Given the description of an element on the screen output the (x, y) to click on. 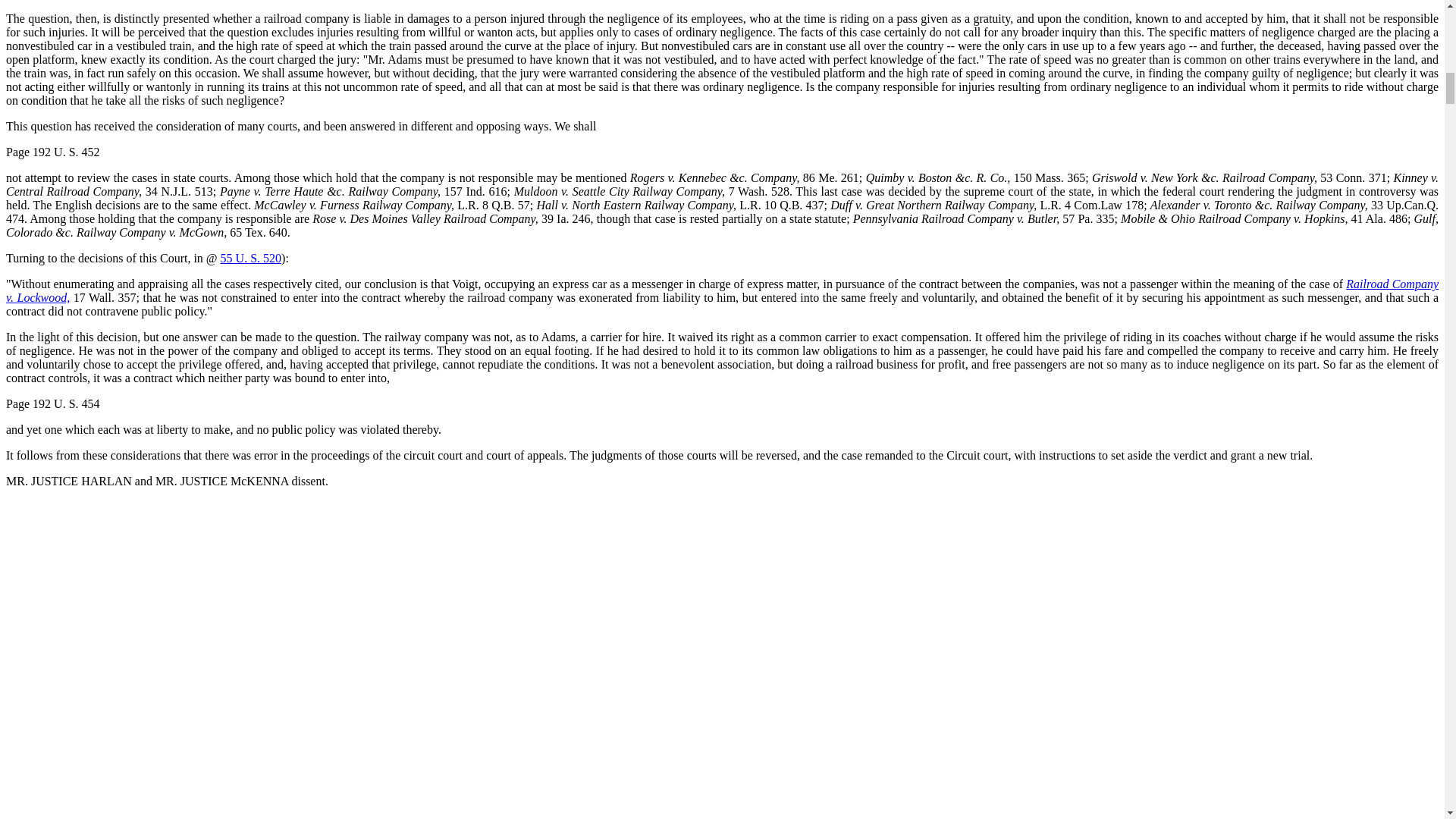
Page 192 U. S. 454 (52, 403)
Page 192 U. S. 452 (52, 151)
55 U. S. 520 (251, 257)
